Given the description of an element on the screen output the (x, y) to click on. 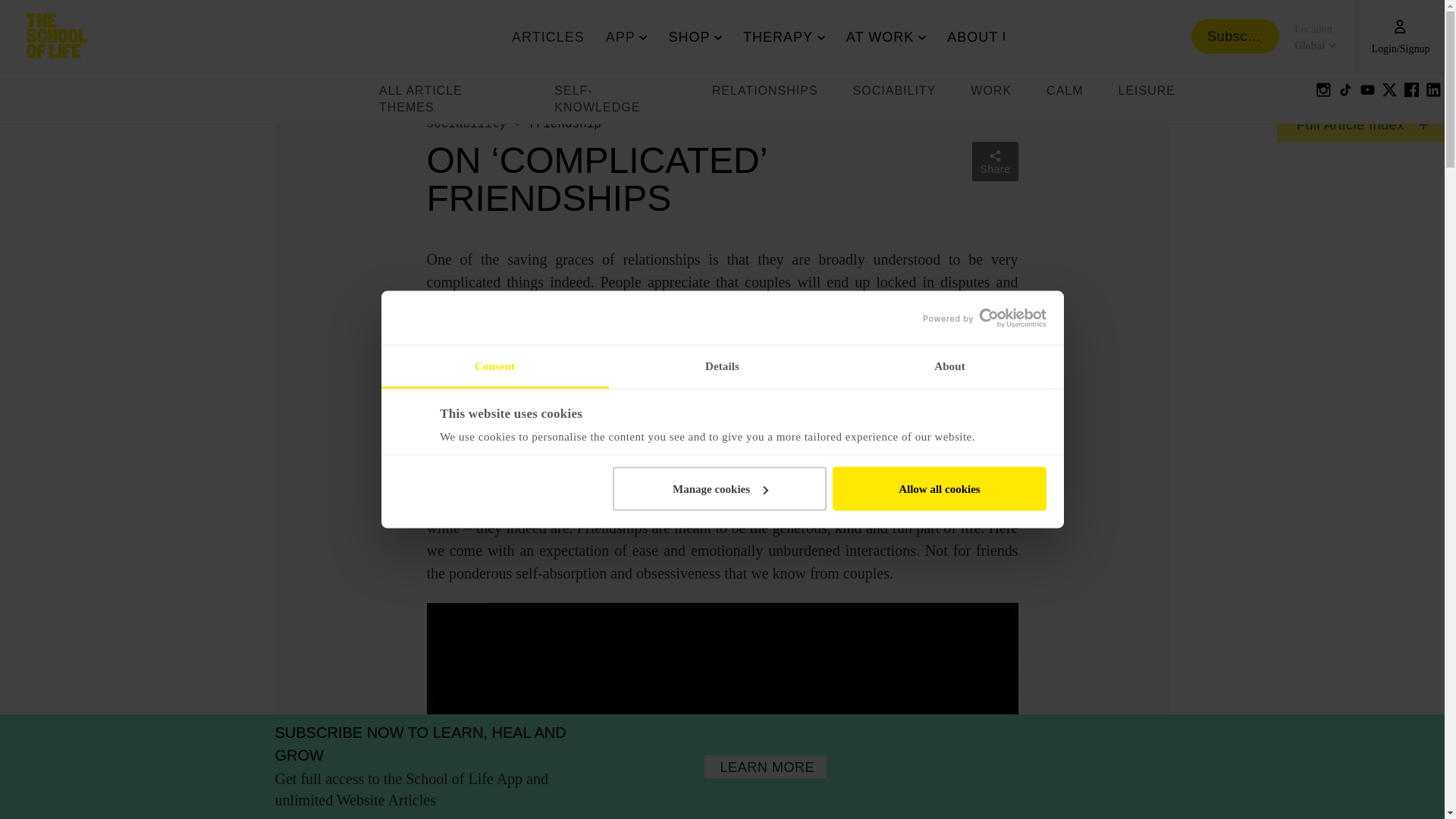
Details (773, 36)
Consent (721, 367)
About (494, 367)
